Given the description of an element on the screen output the (x, y) to click on. 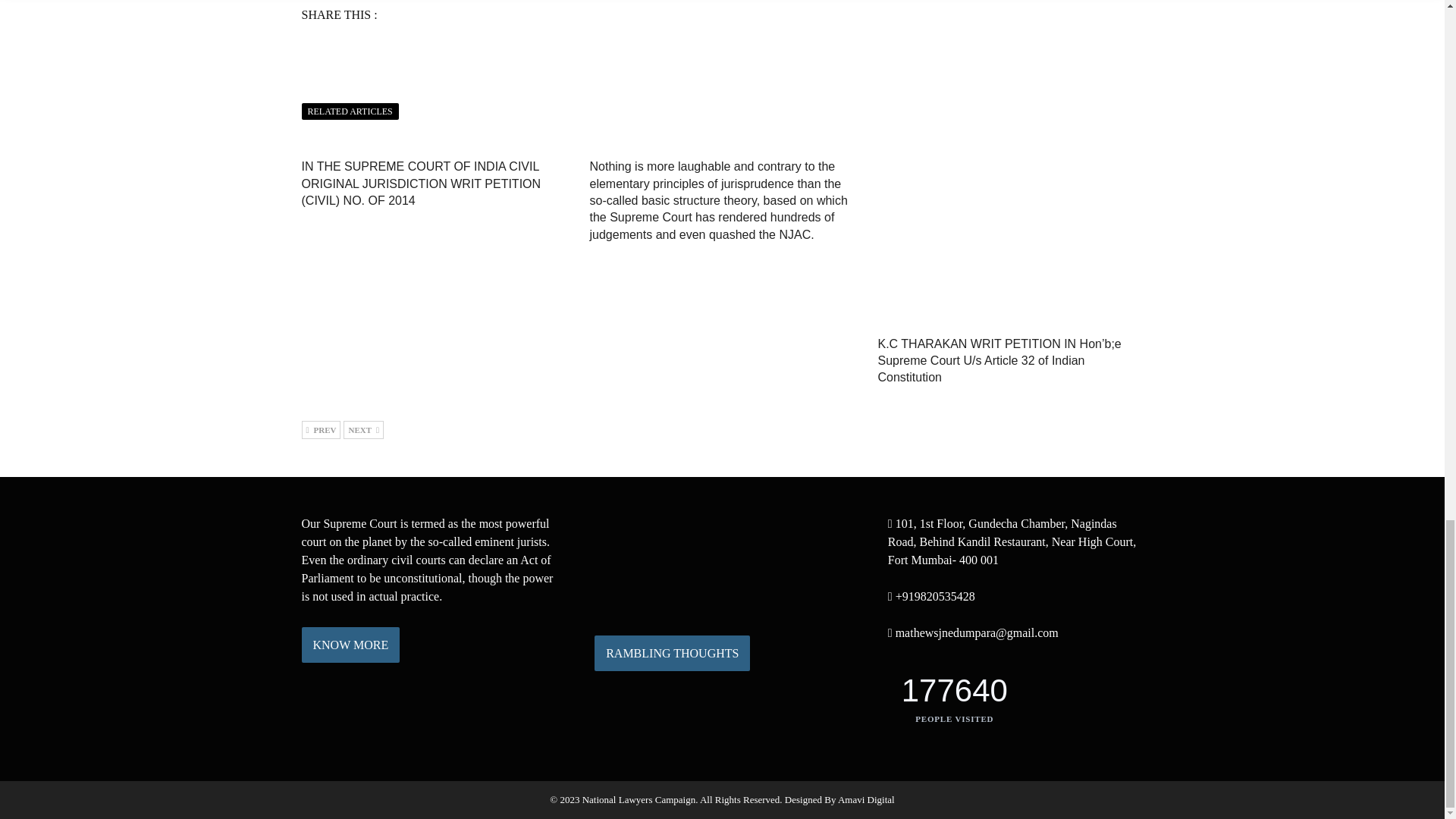
Next (363, 429)
Previous (320, 429)
